Given the description of an element on the screen output the (x, y) to click on. 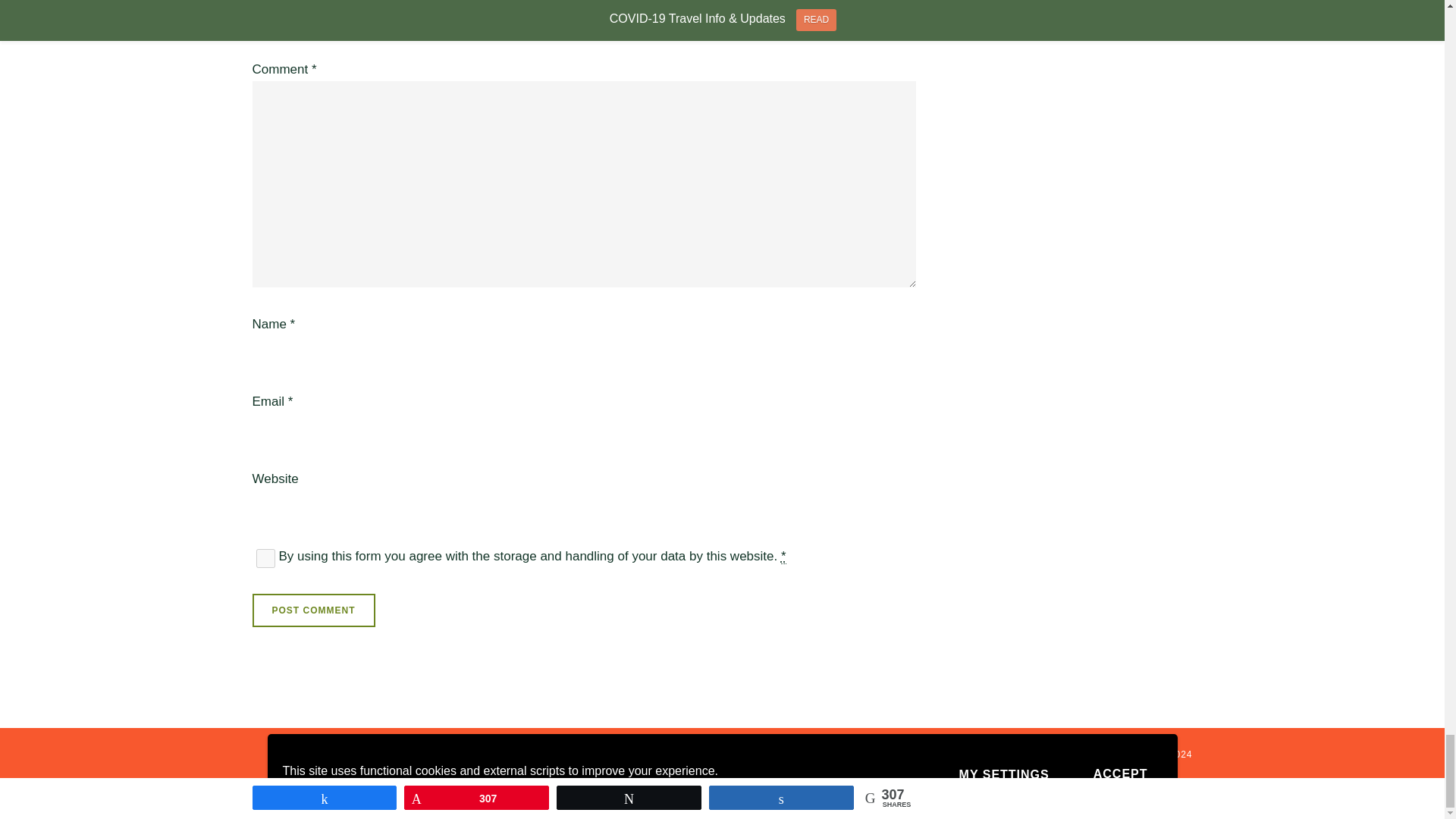
Post Comment (312, 610)
1 (264, 558)
